Given the description of an element on the screen output the (x, y) to click on. 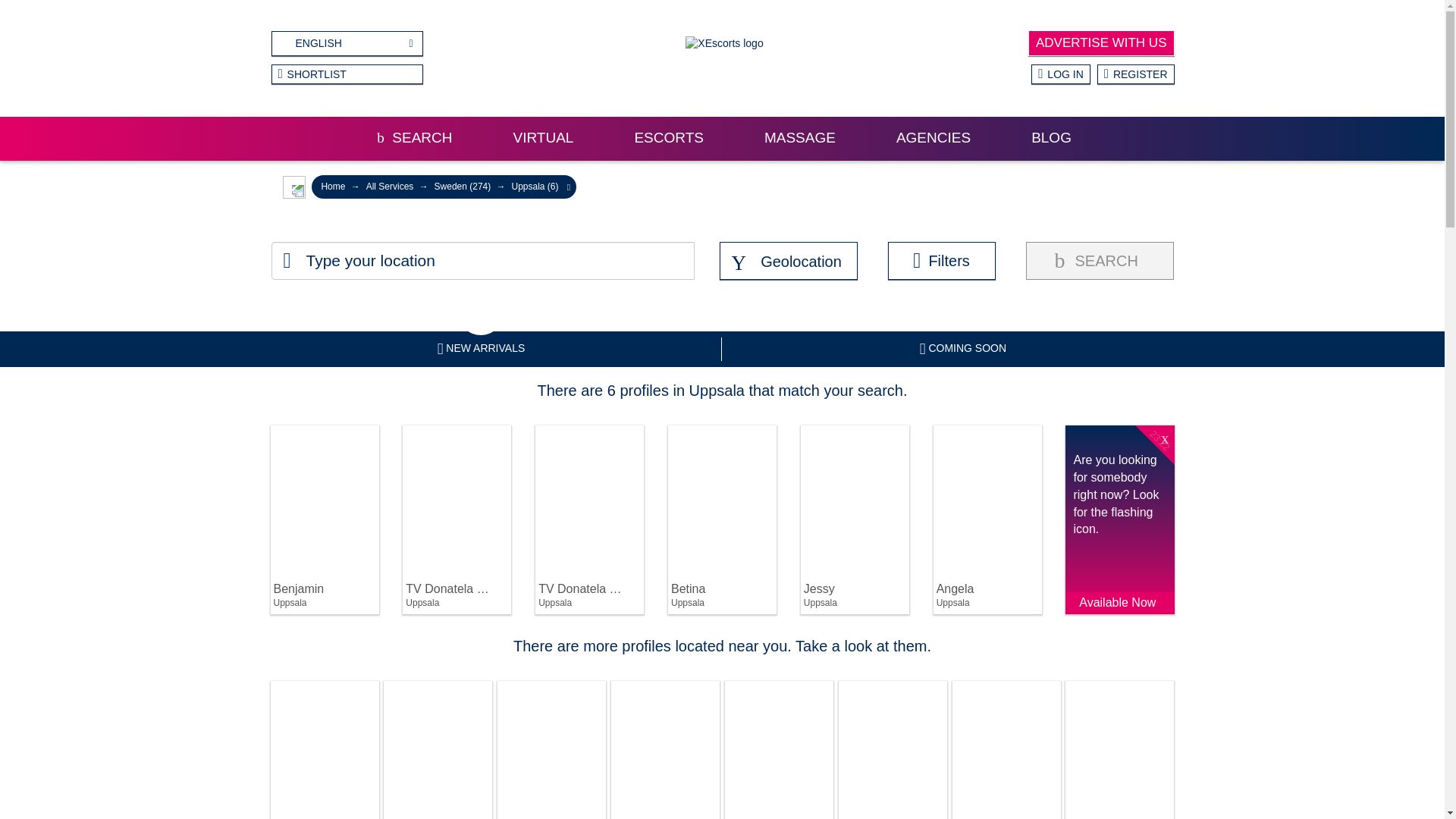
SHORTLIST (346, 74)
Available on EscortFans.com (734, 692)
ENGLISH (346, 43)
ADVERTISE WITH US (1100, 43)
